Given the description of an element on the screen output the (x, y) to click on. 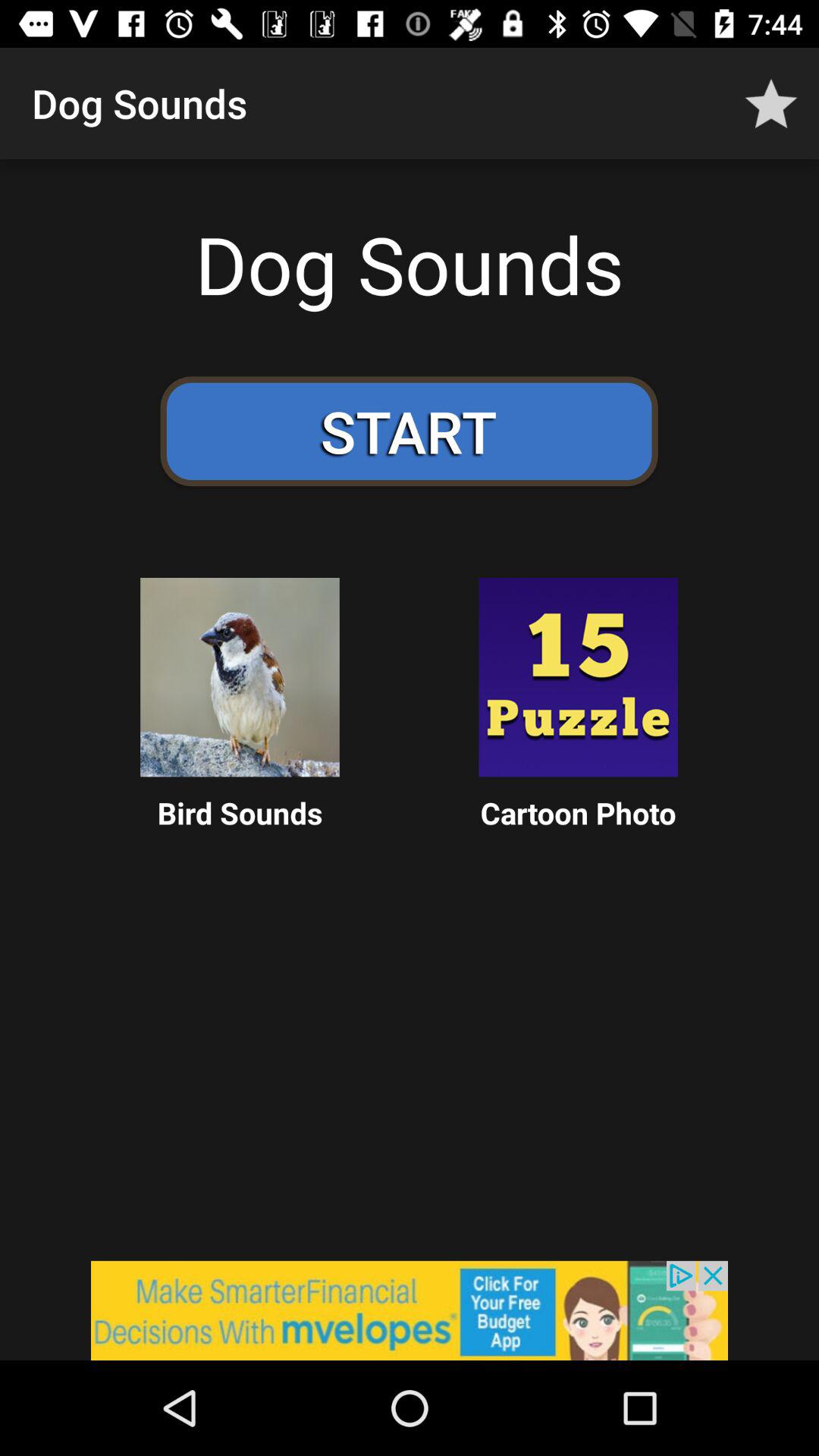
bird sound (239, 676)
